Given the description of an element on the screen output the (x, y) to click on. 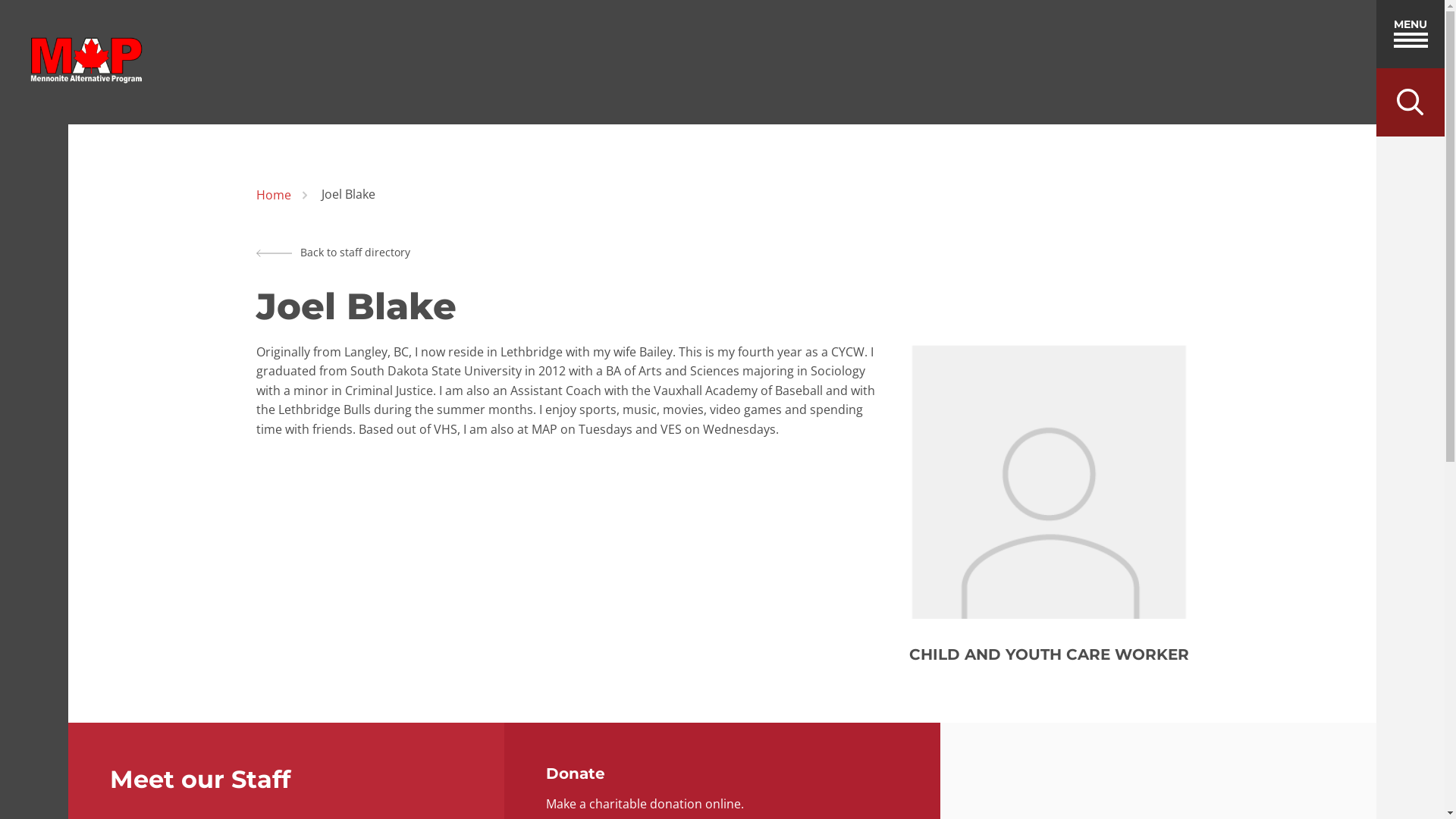
home Element type: hover (86, 62)
Home Element type: text (273, 195)
Back to staff directory Element type: text (333, 252)
MENU Element type: text (1410, 34)
